Given the description of an element on the screen output the (x, y) to click on. 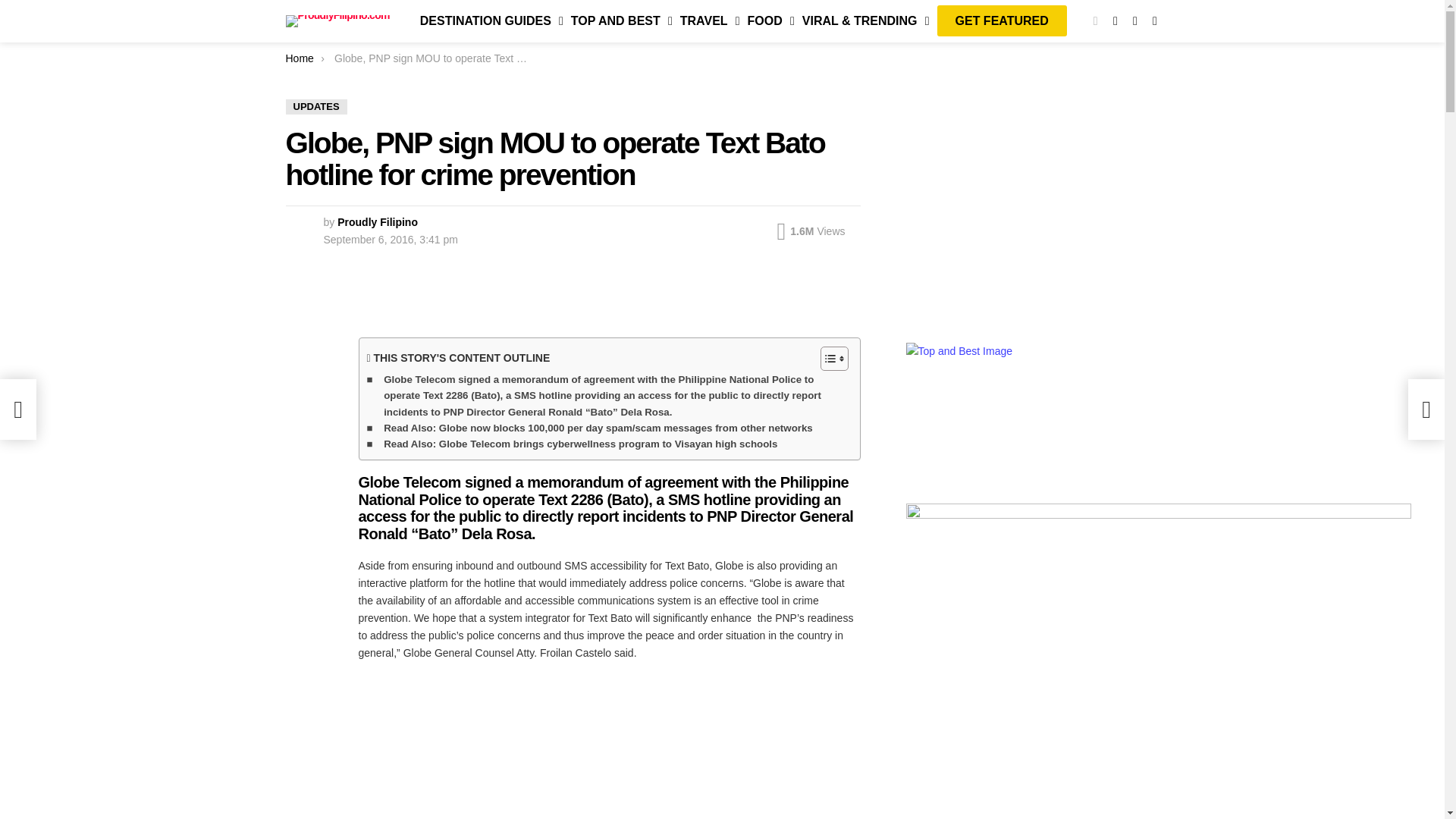
TOP AND BEST (617, 20)
TRAVEL (705, 20)
DESTINATION GUIDES (487, 20)
FOOD (766, 20)
